Given the description of an element on the screen output the (x, y) to click on. 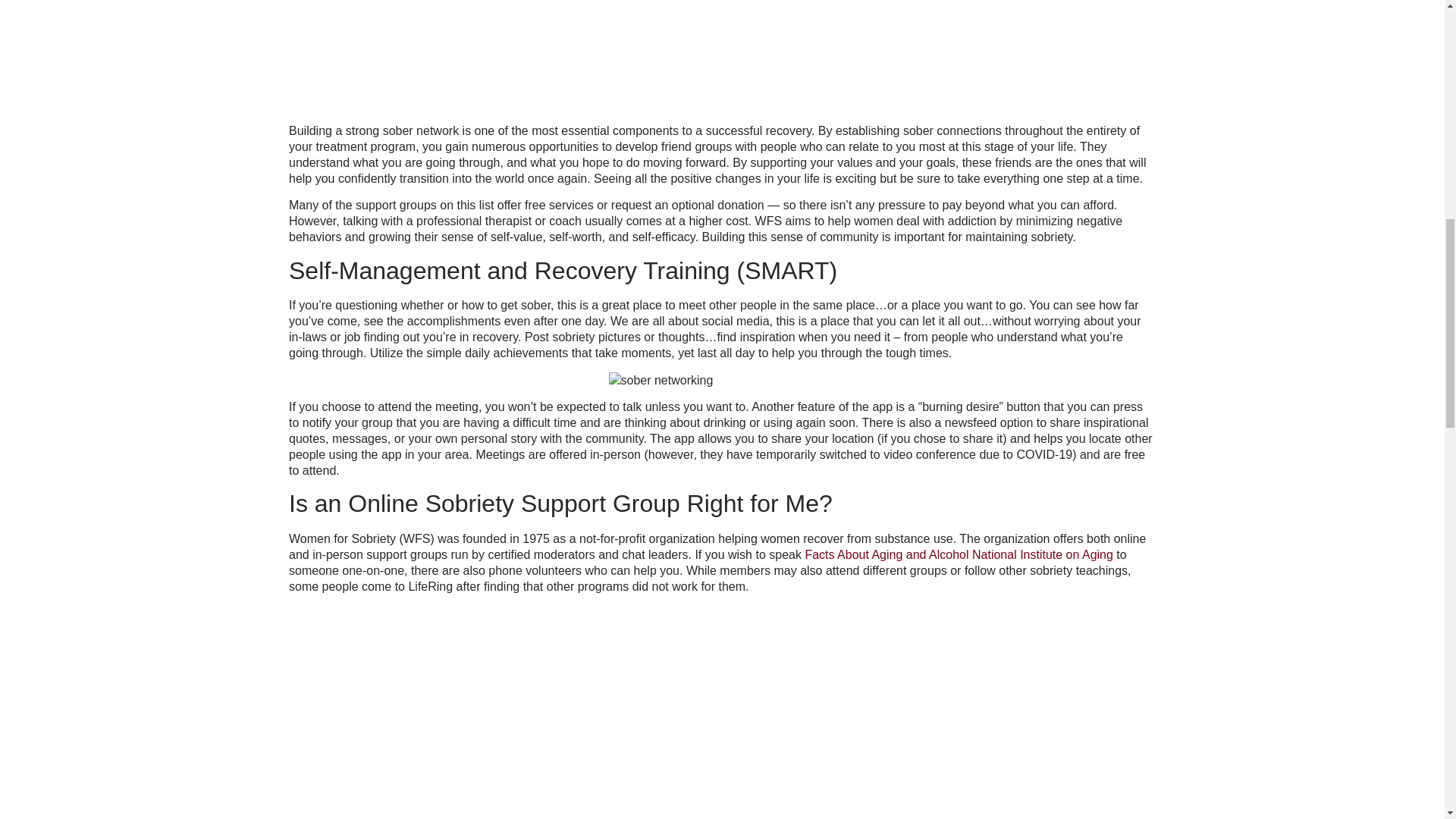
Facts About Aging and Alcohol National Institute on Aging (959, 554)
